Given the description of an element on the screen output the (x, y) to click on. 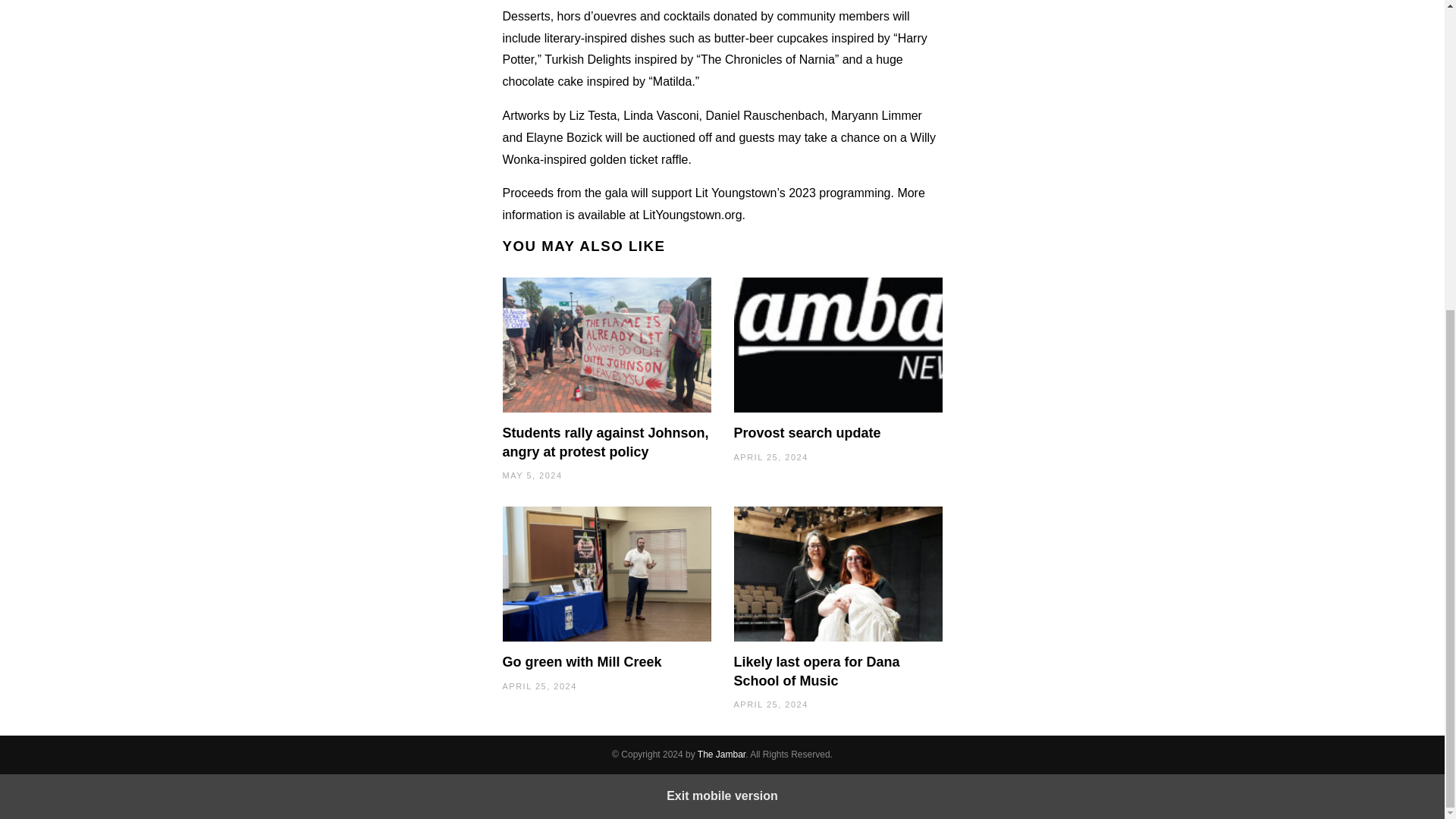
Provost search update (806, 432)
The Jambar (721, 754)
Students rally against Johnson, angry at protest policy (604, 441)
Likely last opera for Dana School of Music (816, 670)
Go green with Mill Creek (581, 661)
